Given the description of an element on the screen output the (x, y) to click on. 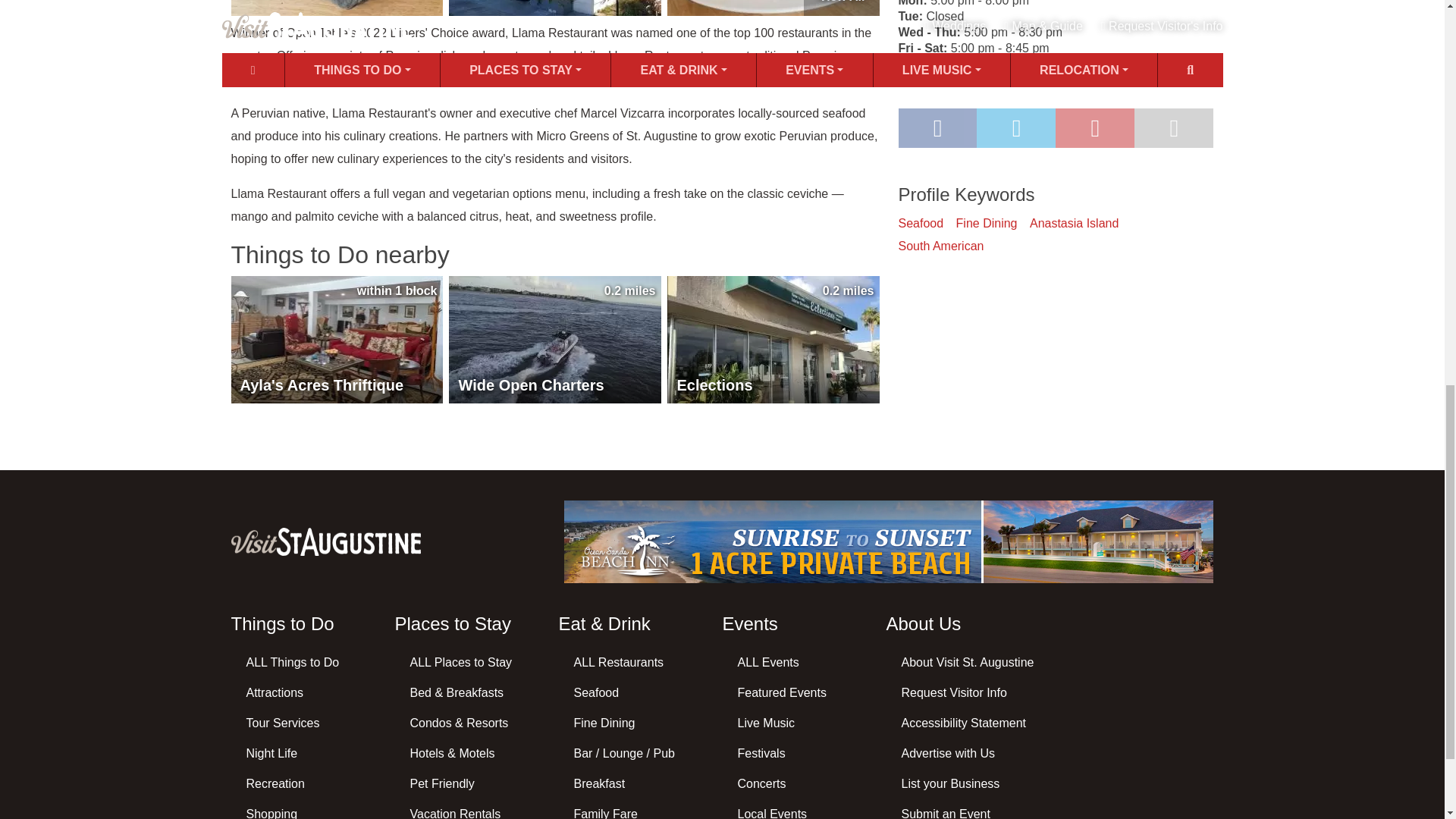
Share on Twitter (1015, 128)
The exterior for Llama on A1A in St. Augustine. (554, 7)
Share on Facebook (937, 128)
Share on Pinterest (1094, 128)
Ceviche is a popular dish at Llama Restaurant. (772, 7)
Share in an Email (1173, 128)
